Given the description of an element on the screen output the (x, y) to click on. 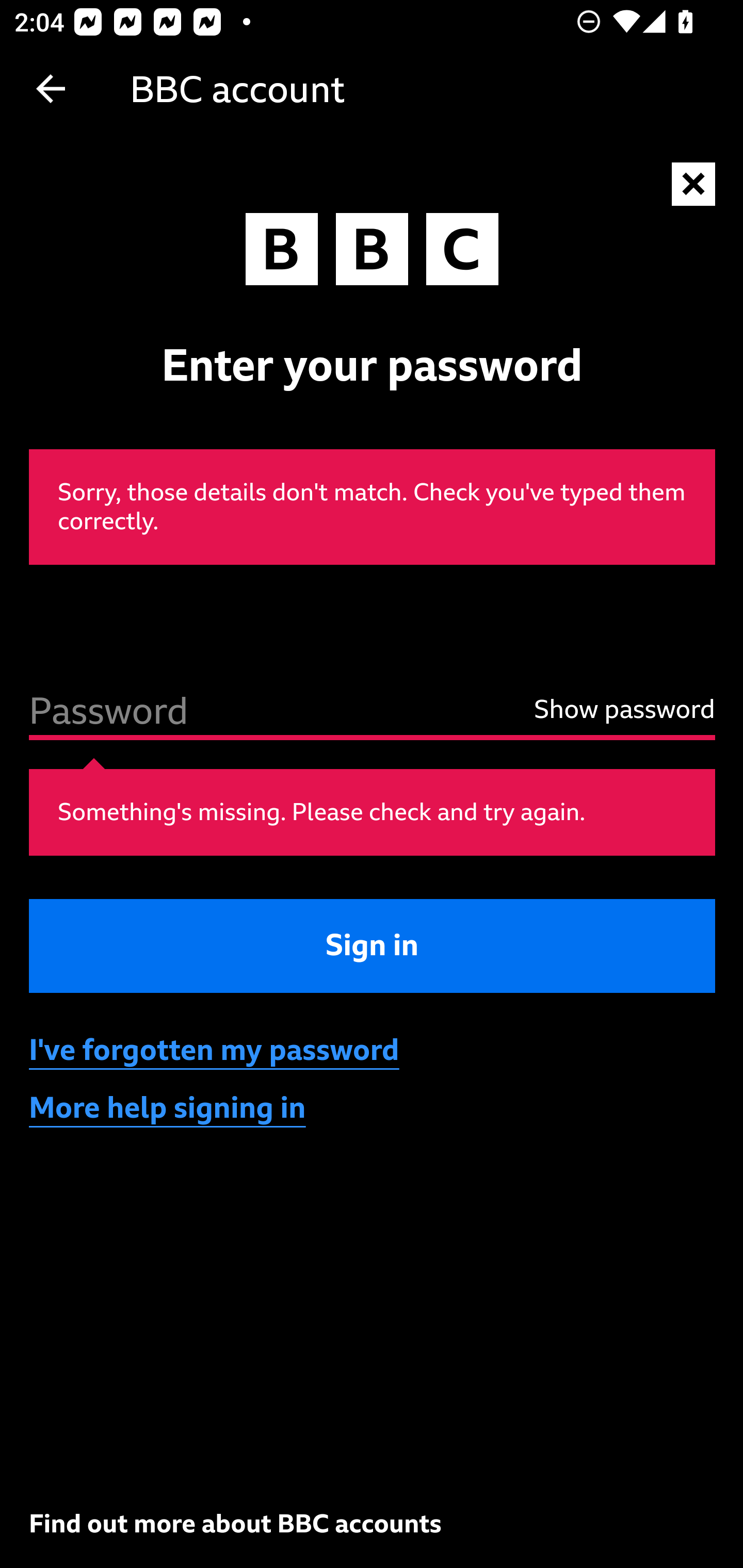
Close and return to where you originally came from (694, 184)
Go to the BBC Homepage (371, 253)
Show password (616, 708)
Sign in (372, 945)
I've forgotten my password (214, 1051)
More help signing in (167, 1107)
Find out more about BBC accounts (235, 1522)
